Given the description of an element on the screen output the (x, y) to click on. 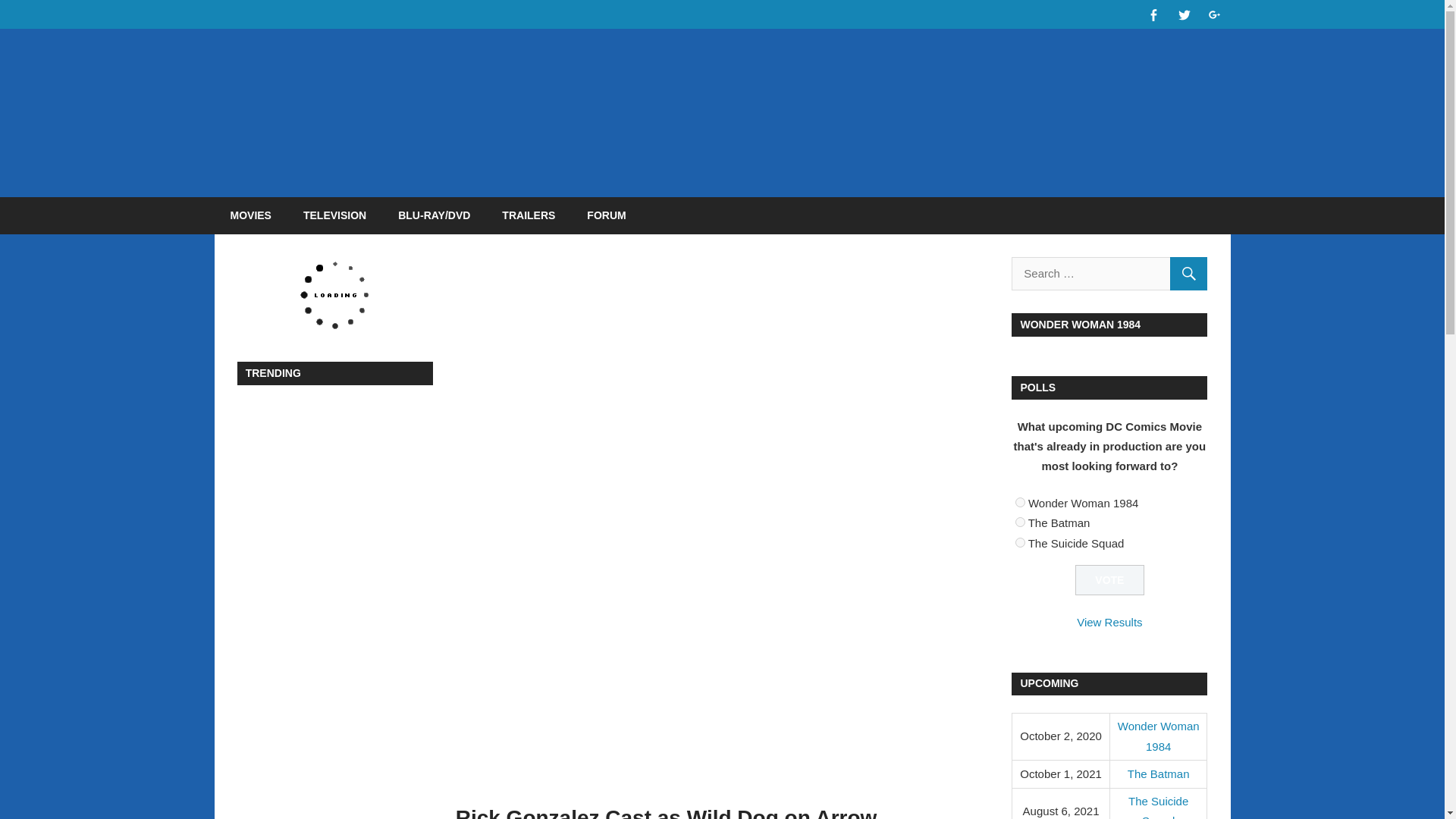
TRAILERS (528, 216)
MOVIES (250, 216)
FORUM (606, 216)
83 (1019, 521)
   Vote    (1109, 580)
Search for: (1109, 273)
View Results Of This Poll (1109, 621)
84 (1019, 542)
TELEVISION (333, 216)
82 (1019, 501)
